Given the description of an element on the screen output the (x, y) to click on. 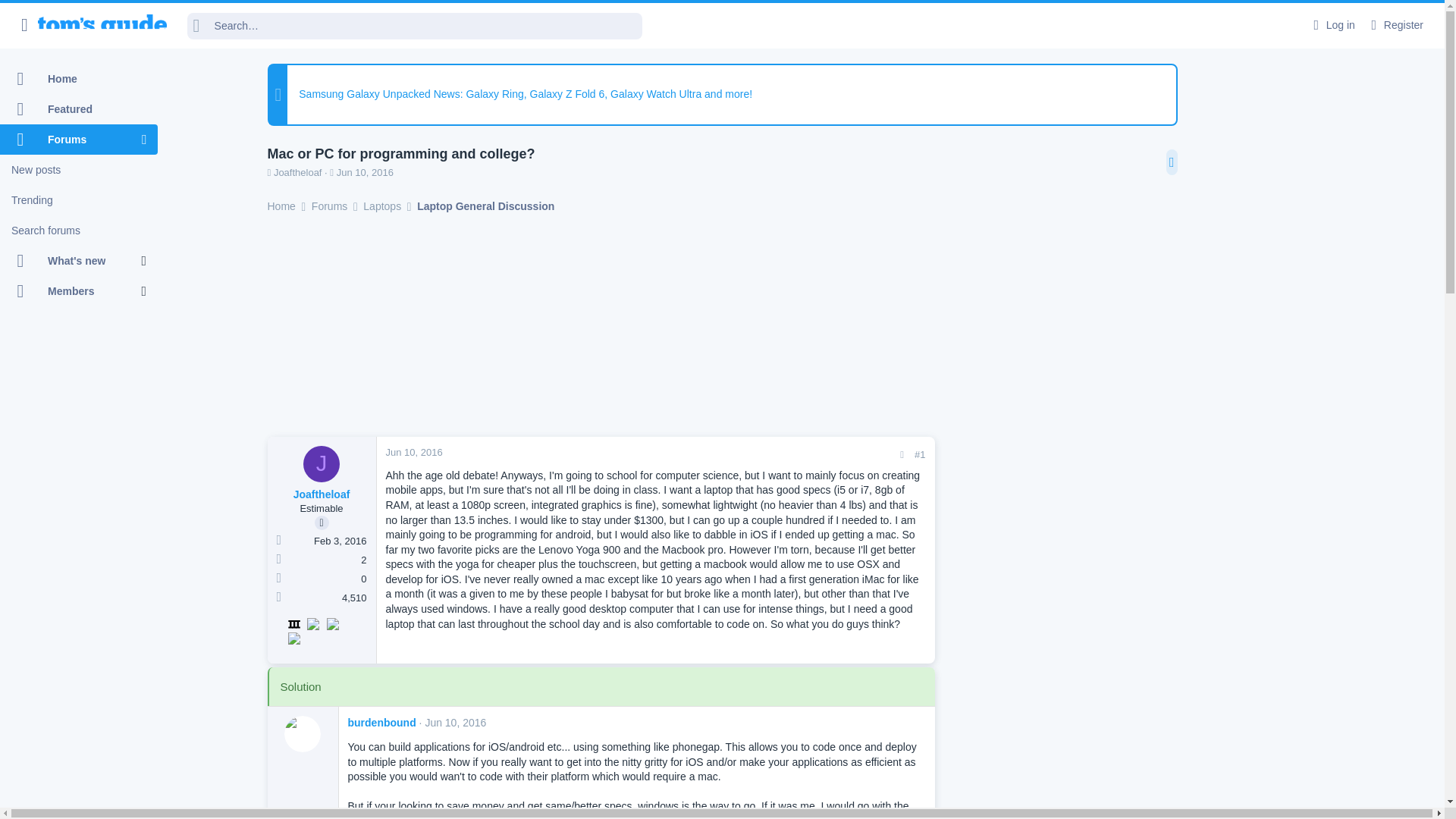
Original poster (321, 522)
Veteran (293, 622)
Messages (278, 559)
Thread starter (268, 172)
Reaction score (278, 578)
Register (1395, 24)
Points (278, 597)
Sidebar (1171, 162)
Journeyman (312, 622)
Jun 10, 2016 at 9:27 AM (364, 172)
Joined (278, 541)
Log in (1332, 24)
